Given the description of an element on the screen output the (x, y) to click on. 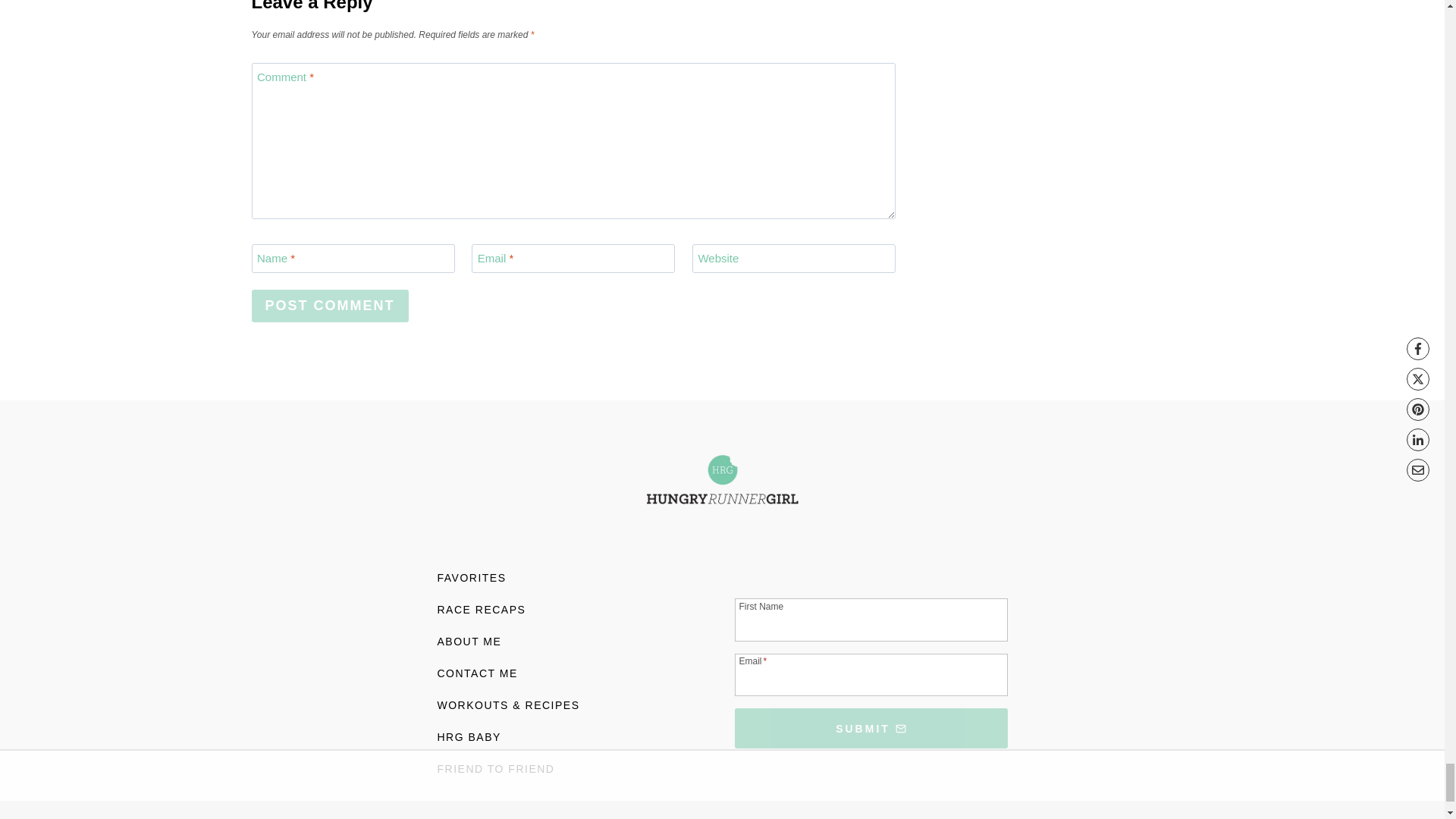
Post Comment (330, 305)
